Given the description of an element on the screen output the (x, y) to click on. 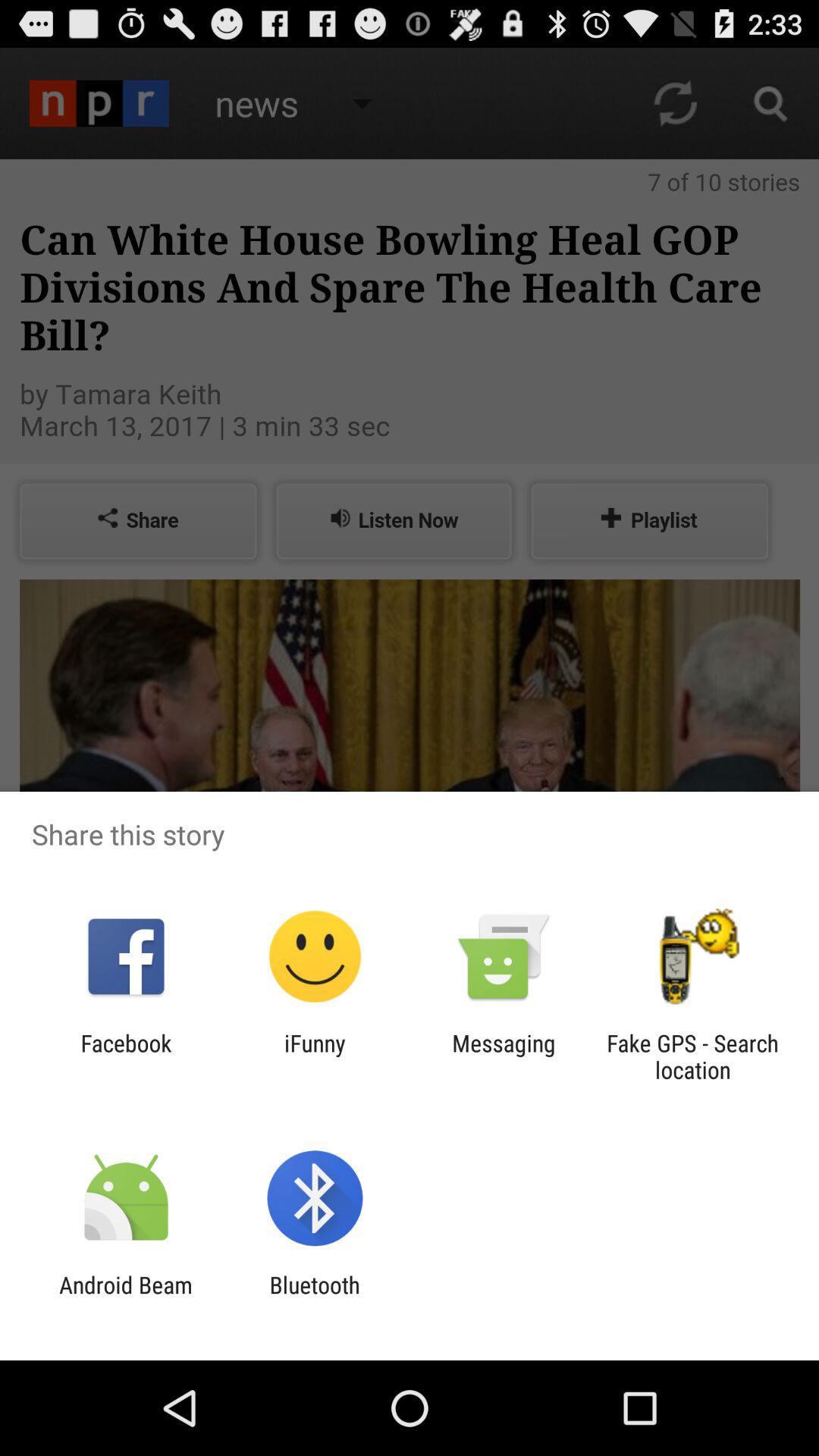
press the app next to the messaging app (692, 1056)
